Given the description of an element on the screen output the (x, y) to click on. 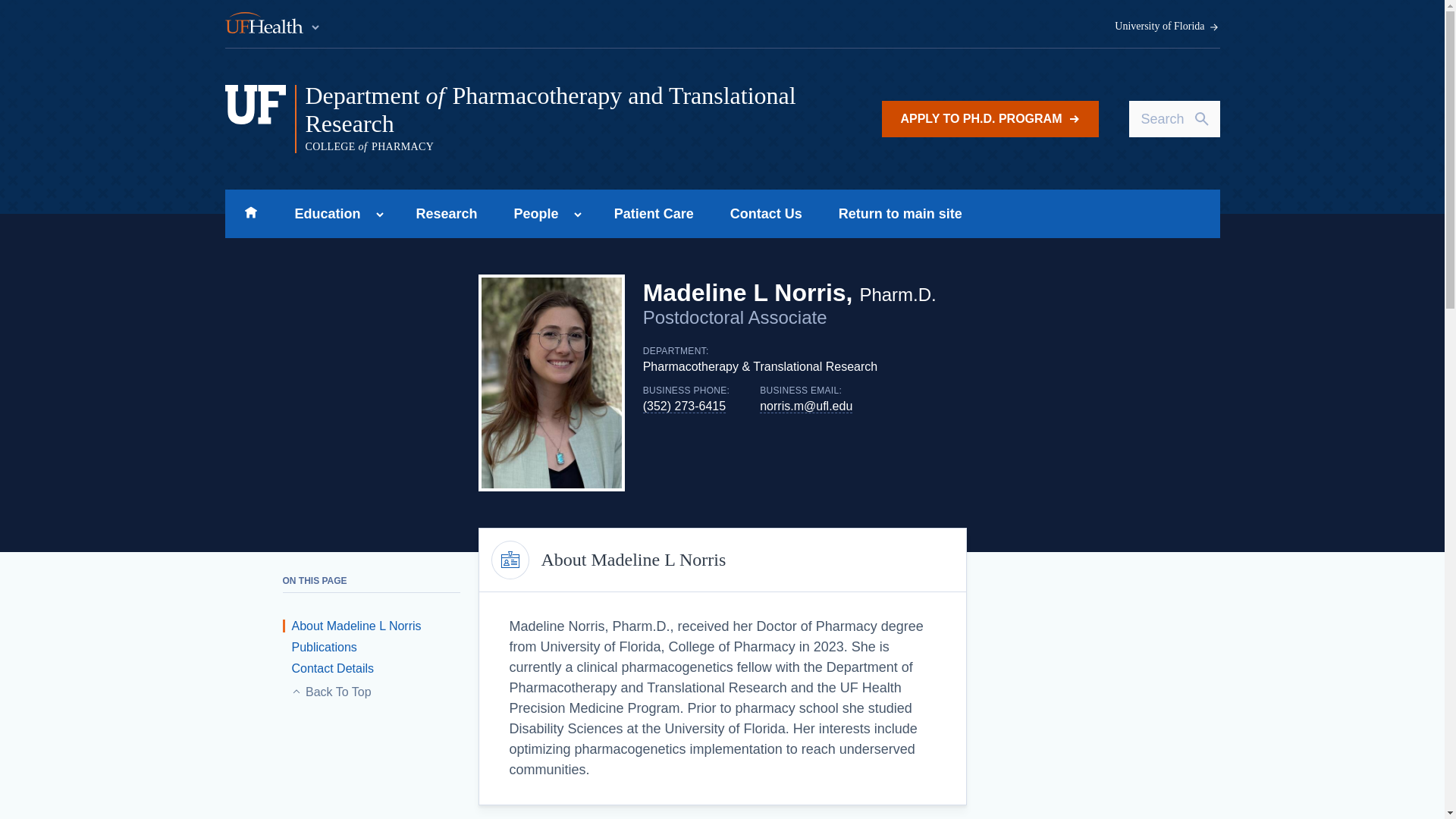
Publications (319, 646)
About Madeline L Norris (351, 625)
People (531, 213)
Return to main site (900, 213)
Education (322, 213)
APPLY TO PH.D. PROGRAM (989, 118)
UF Health (272, 24)
